Given the description of an element on the screen output the (x, y) to click on. 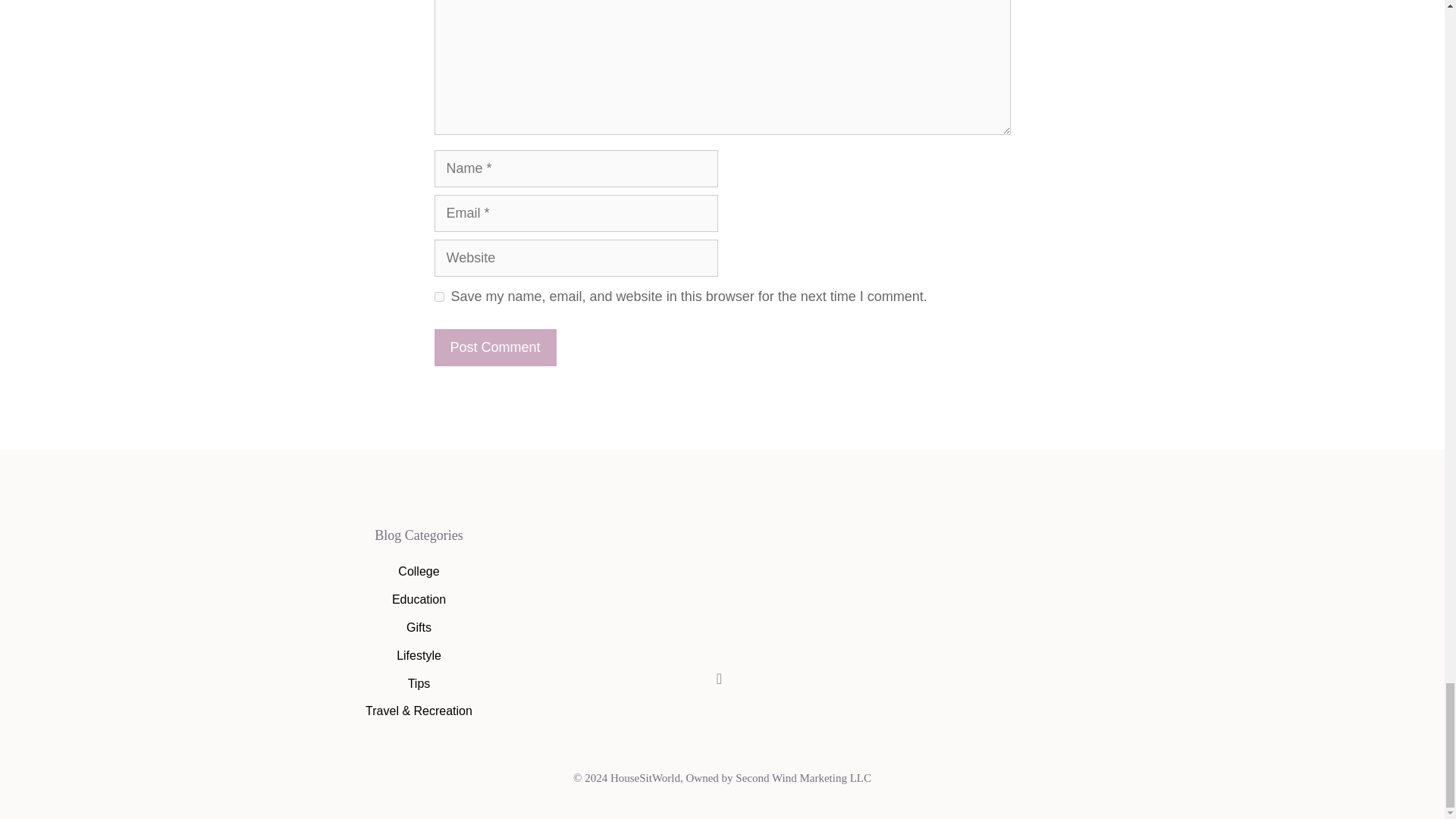
Instagram (719, 678)
Post Comment (494, 347)
yes (438, 296)
